Given the description of an element on the screen output the (x, y) to click on. 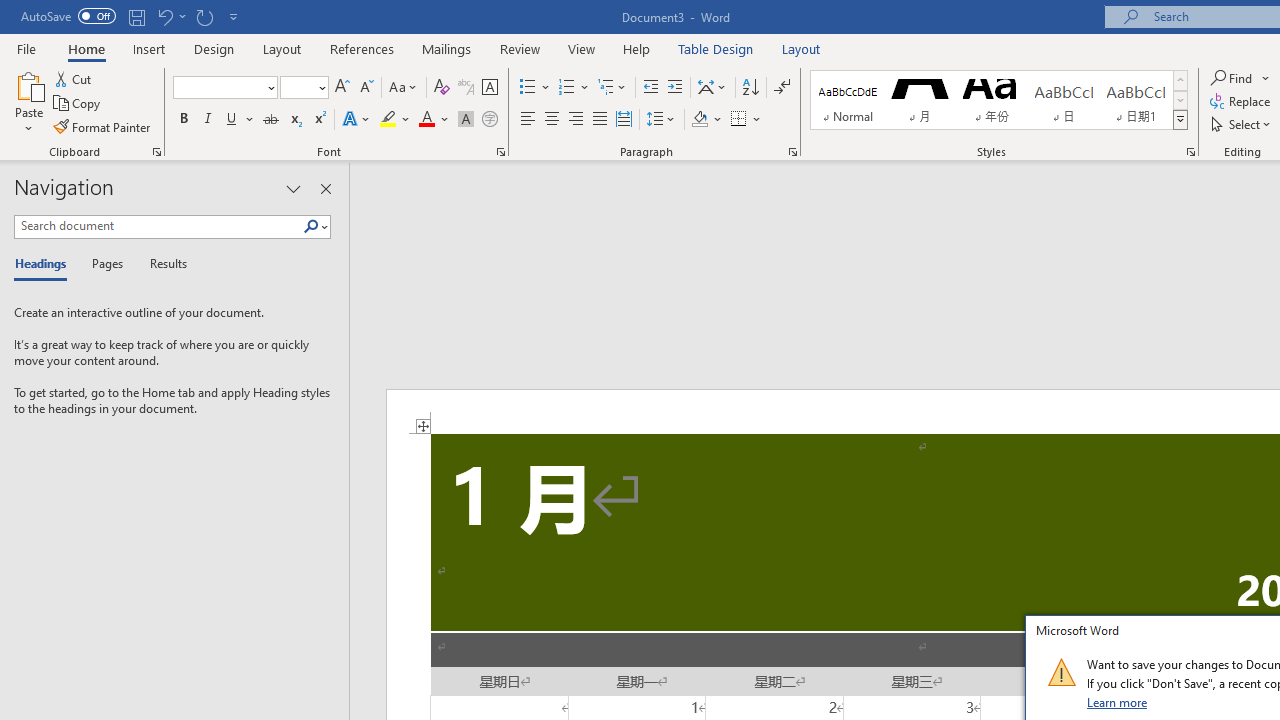
AutomationID: QuickStylesGallery (999, 99)
Font (224, 87)
Quick Access Toolbar (131, 16)
Character Shading (465, 119)
Borders (739, 119)
Search document (157, 226)
Find (1233, 78)
Pages (105, 264)
Text Effects and Typography (357, 119)
Replace... (1242, 101)
Paste (28, 102)
Find (1240, 78)
Font Color RGB(255, 0, 0) (426, 119)
Shading (706, 119)
